Given the description of an element on the screen output the (x, y) to click on. 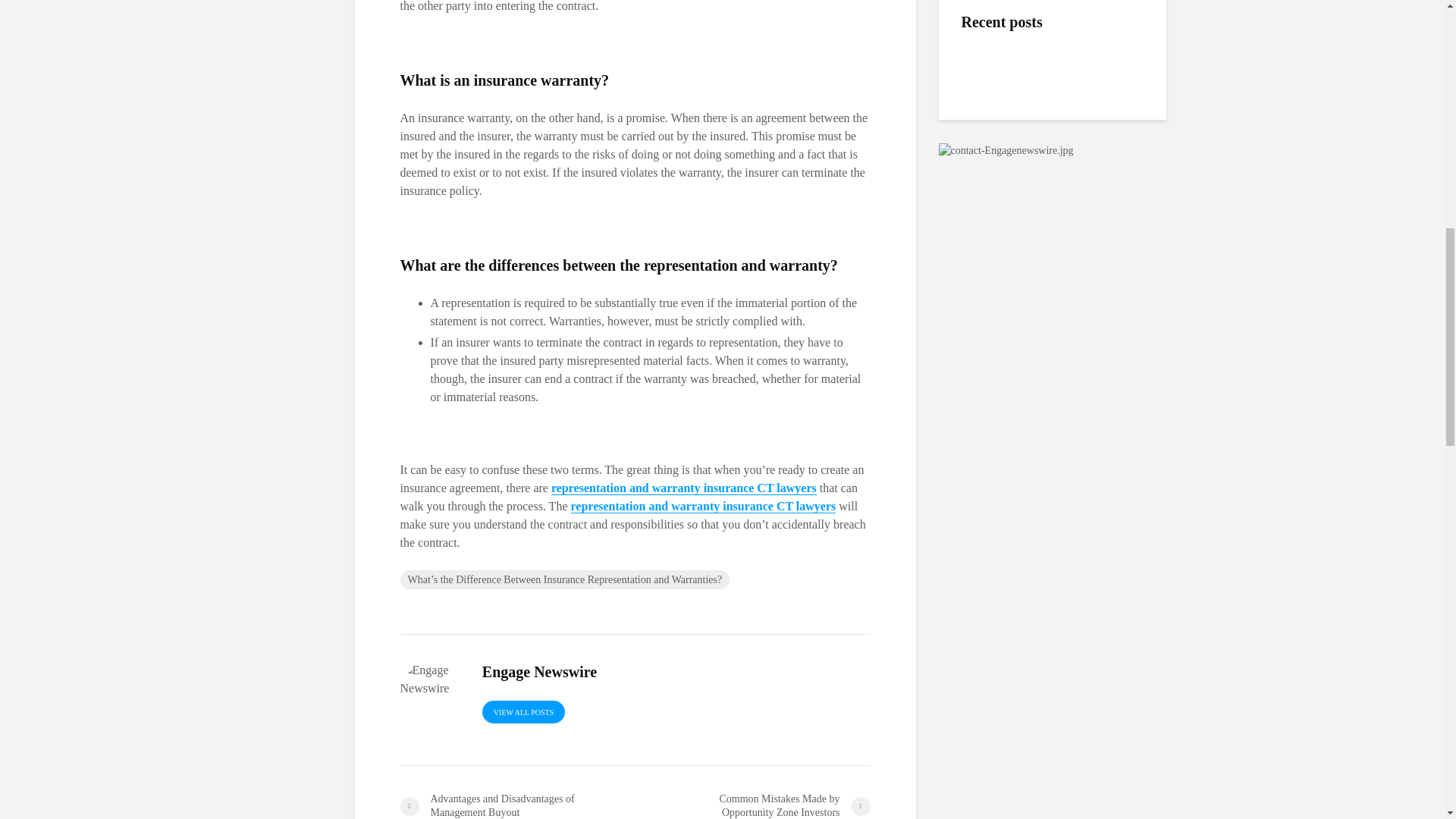
representation and warranty insurance CT lawyer (683, 488)
representation and warranty insurance CT lawyer (702, 506)
